Given the description of an element on the screen output the (x, y) to click on. 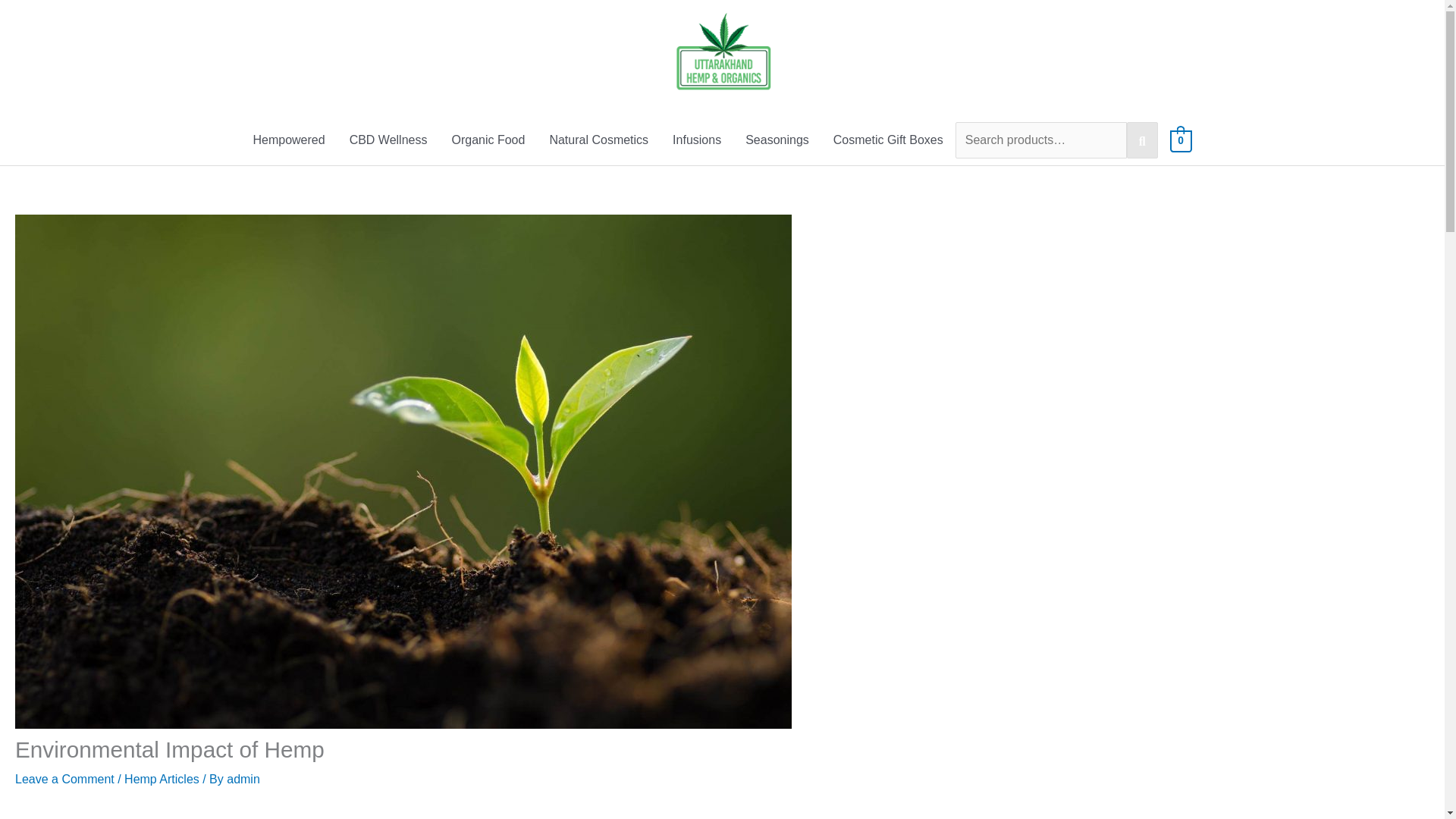
Hemp Articles (161, 779)
Natural Cosmetics (599, 140)
admin (243, 779)
Hempowered (288, 140)
CBD Wellness (388, 140)
Organic Food (488, 140)
Leave a Comment (64, 779)
Infusions (697, 140)
Seasonings (777, 140)
0 (1181, 140)
